Given the description of an element on the screen output the (x, y) to click on. 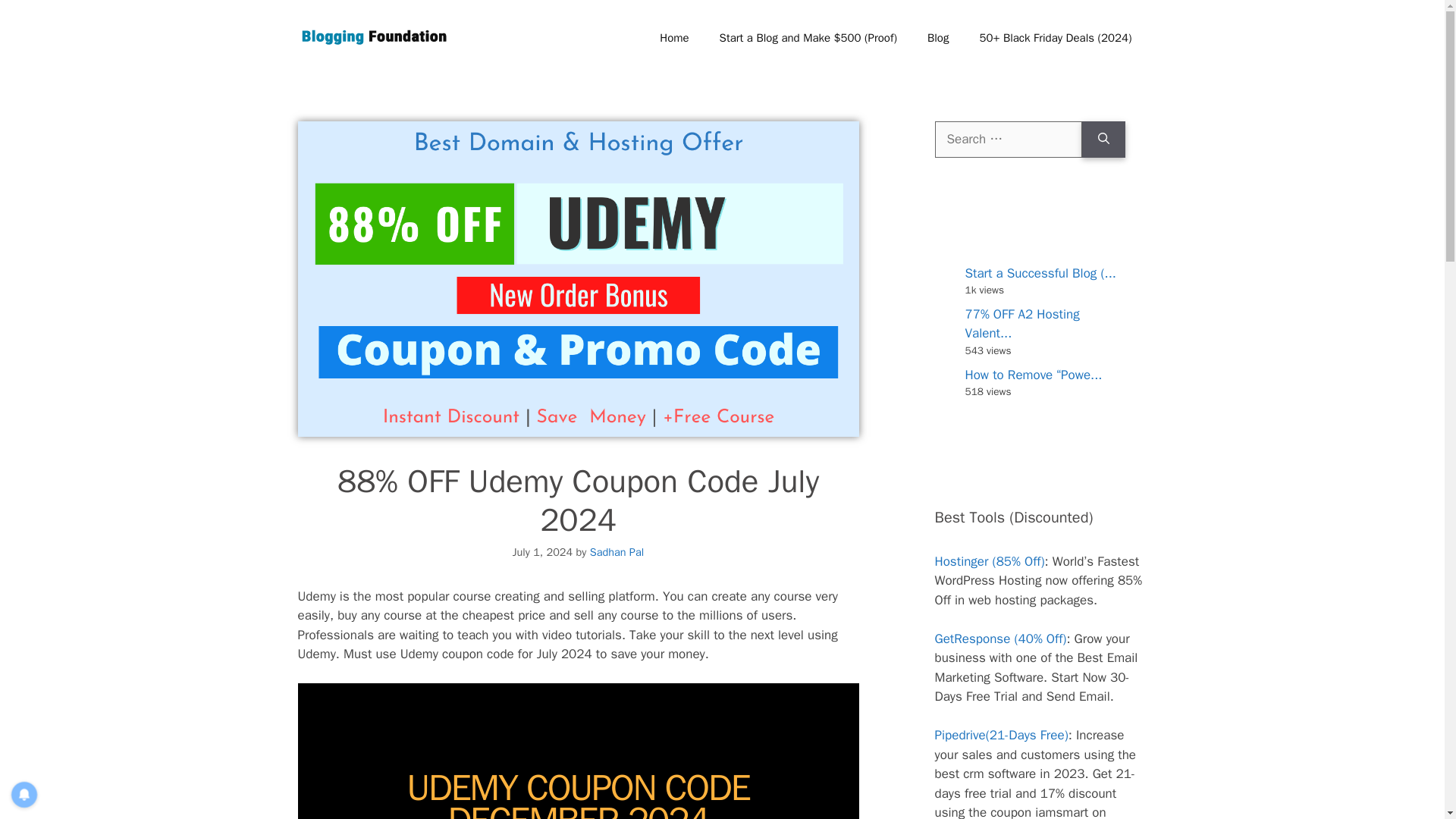
Sadhan Pal (617, 551)
Search for: (1007, 139)
Blog (937, 37)
View all posts by Sadhan Pal (617, 551)
Home (674, 37)
